Given the description of an element on the screen output the (x, y) to click on. 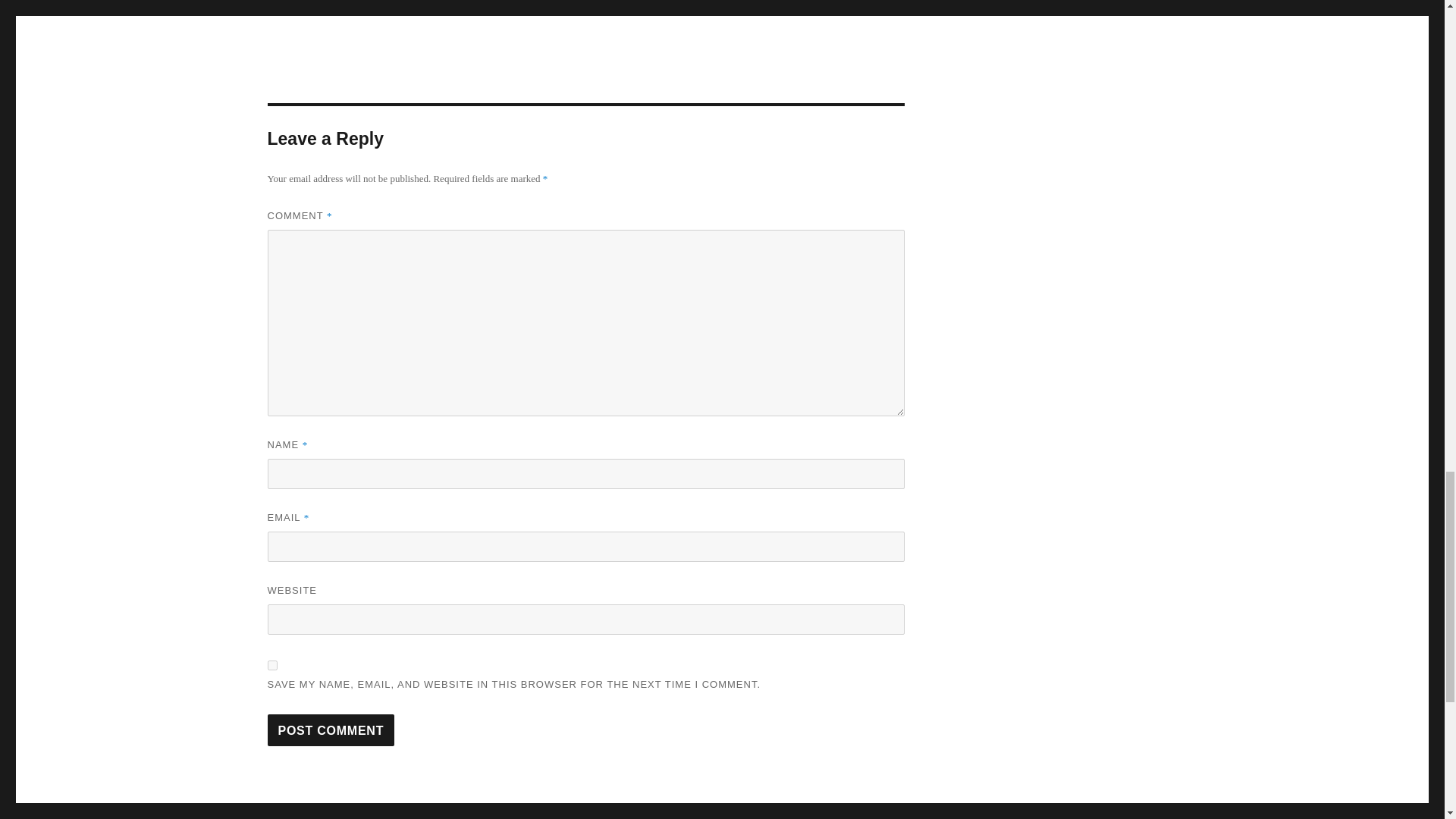
yes (271, 665)
Post Comment (330, 730)
Post Comment (330, 730)
